Given the description of an element on the screen output the (x, y) to click on. 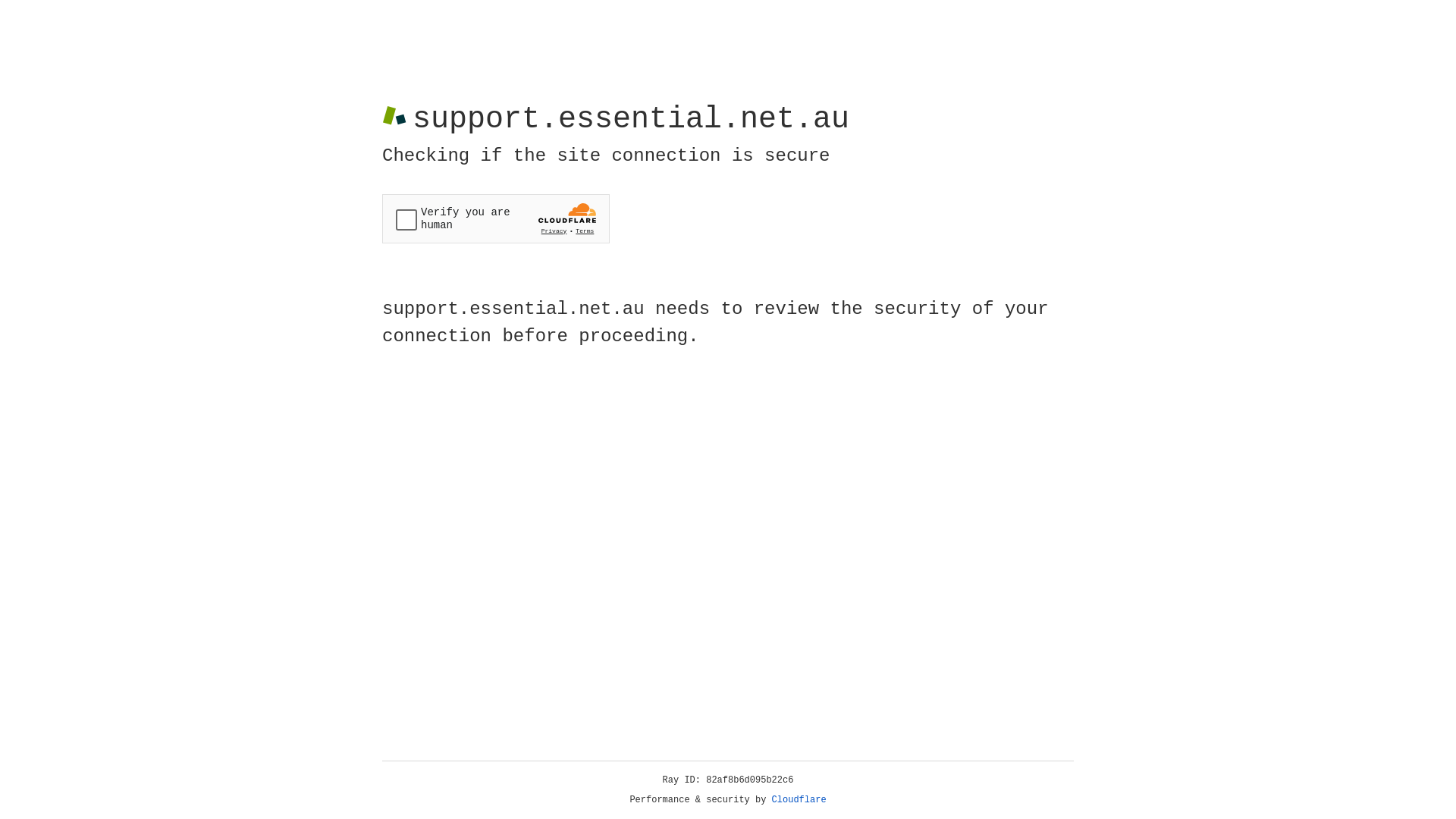
Widget containing a Cloudflare security challenge Element type: hover (495, 218)
Cloudflare Element type: text (798, 799)
